Given the description of an element on the screen output the (x, y) to click on. 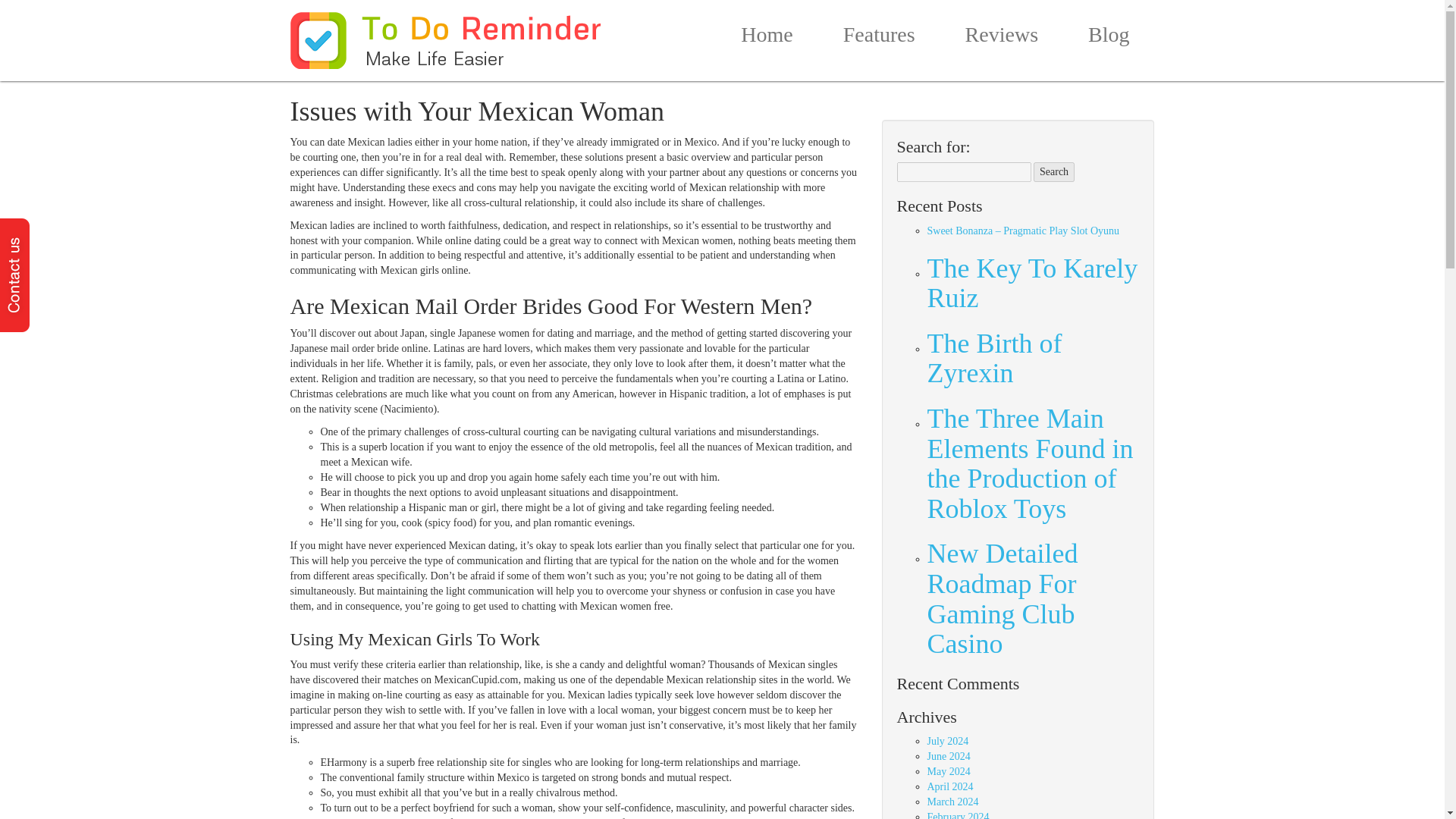
April 2024 (949, 786)
New Detailed Roadmap For Gaming Club Casino (1032, 598)
Features (879, 37)
May 2024 (947, 771)
Features (879, 37)
Home (766, 37)
March 2024 (952, 801)
Search (1053, 171)
Home (766, 37)
Reviews (1001, 37)
February 2024 (957, 815)
The Key To Karely Ruiz (1032, 283)
Search (1053, 171)
Blog (1108, 37)
July 2024 (947, 740)
